Given the description of an element on the screen output the (x, y) to click on. 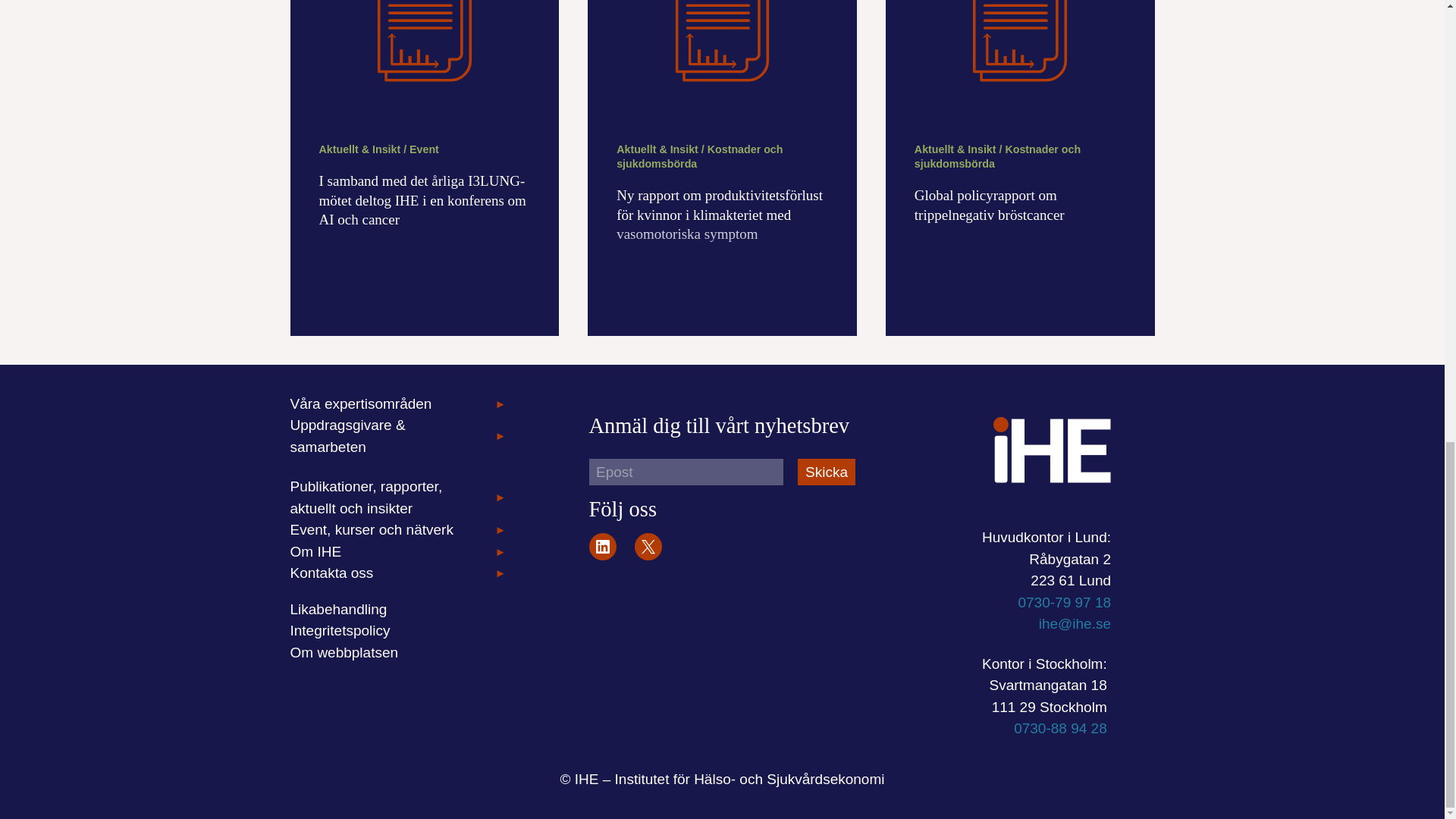
Skicka (826, 471)
